Given the description of an element on the screen output the (x, y) to click on. 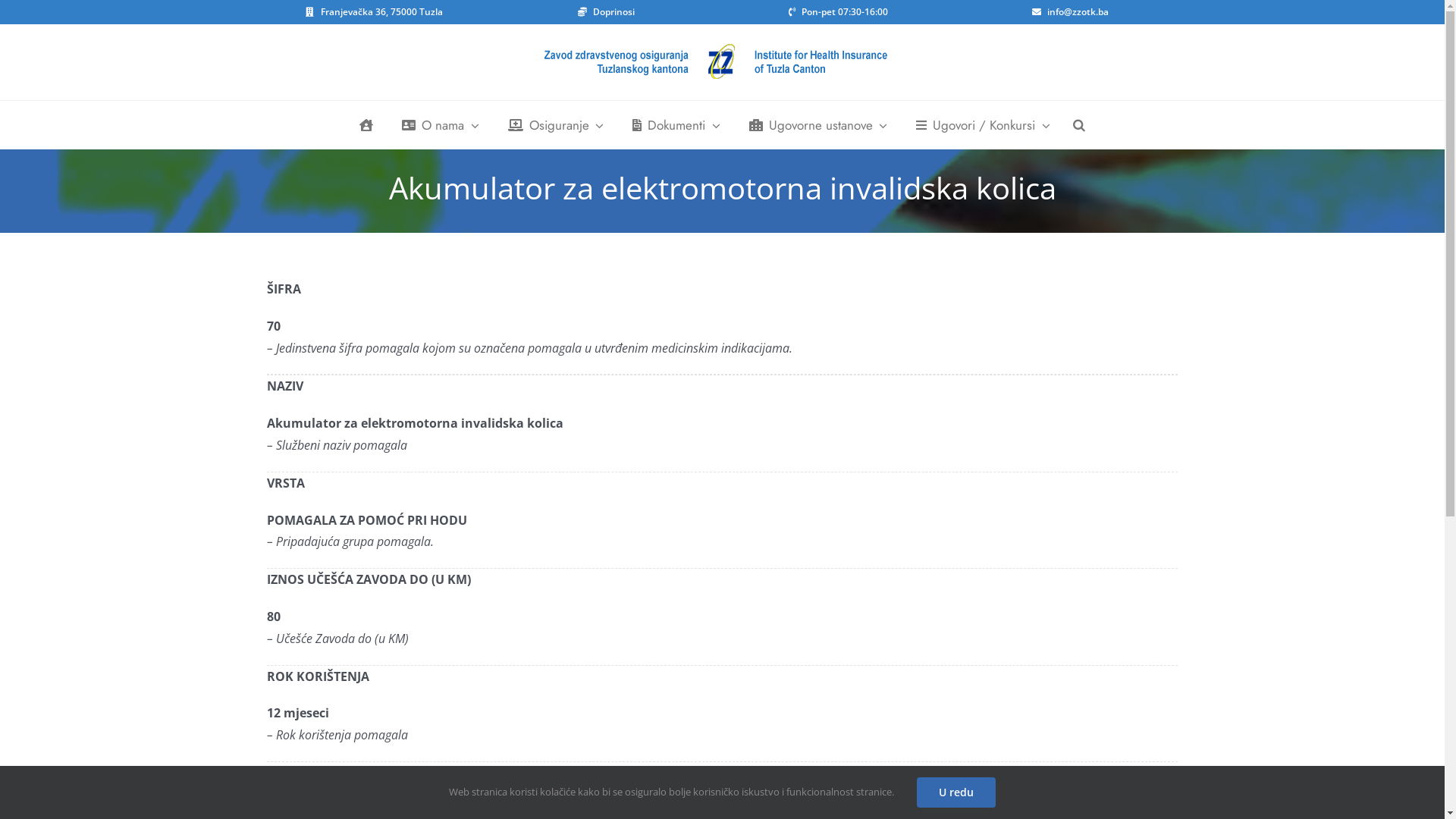
Dokumenti Element type: text (673, 124)
O nama Element type: text (437, 124)
info@zzotk.ba Element type: text (1069, 12)
Ugovorne ustanove Element type: text (815, 124)
Osiguranje Element type: text (553, 124)
Ugovori / Konkursi Element type: text (980, 124)
Doprinosi Element type: text (605, 12)
Pon-pet 07:30-16:00 Element type: text (837, 12)
Pretraga Element type: hover (1079, 124)
U redu Element type: text (955, 792)
